Given the description of an element on the screen output the (x, y) to click on. 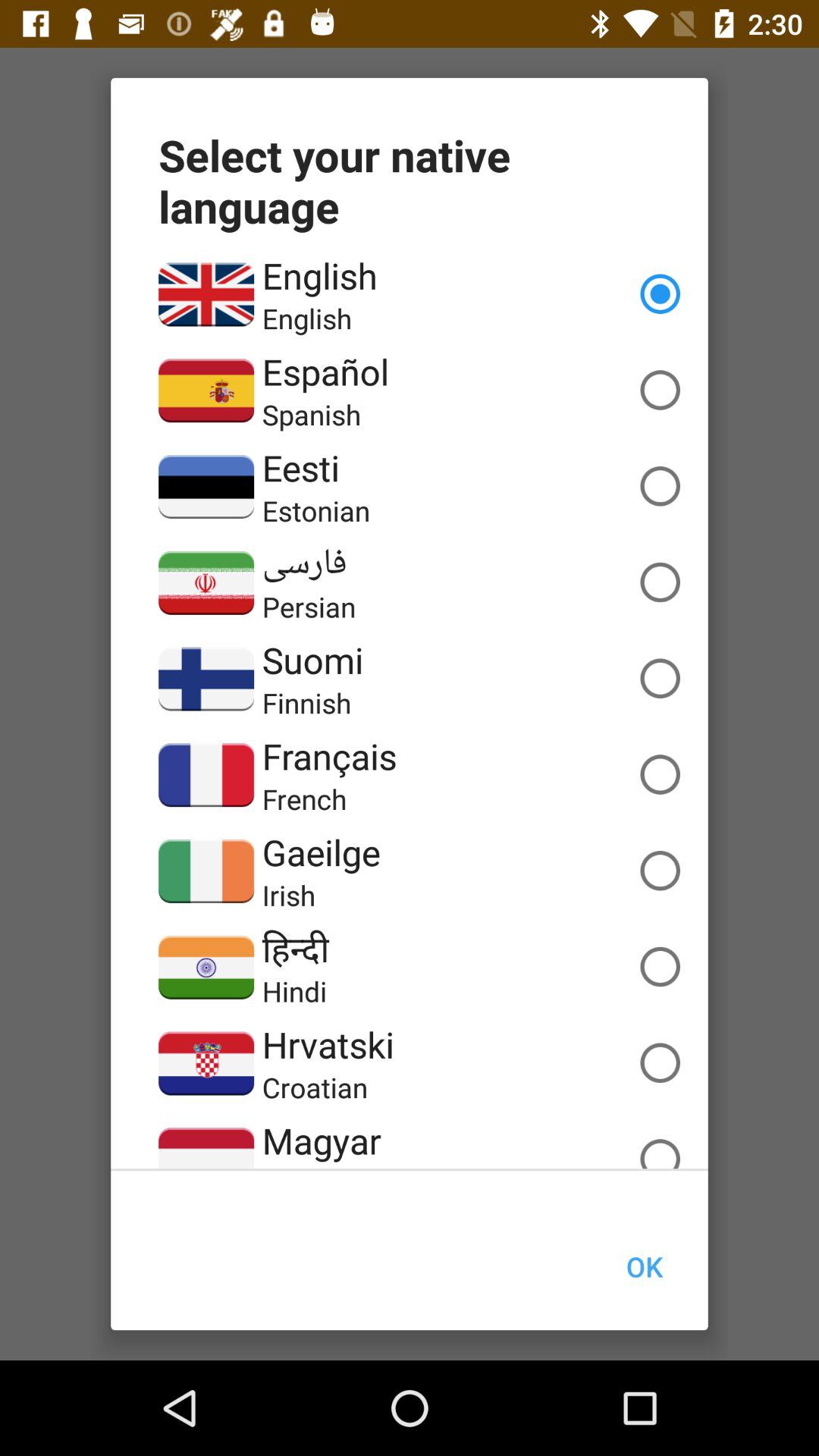
press ok icon (644, 1266)
